Given the description of an element on the screen output the (x, y) to click on. 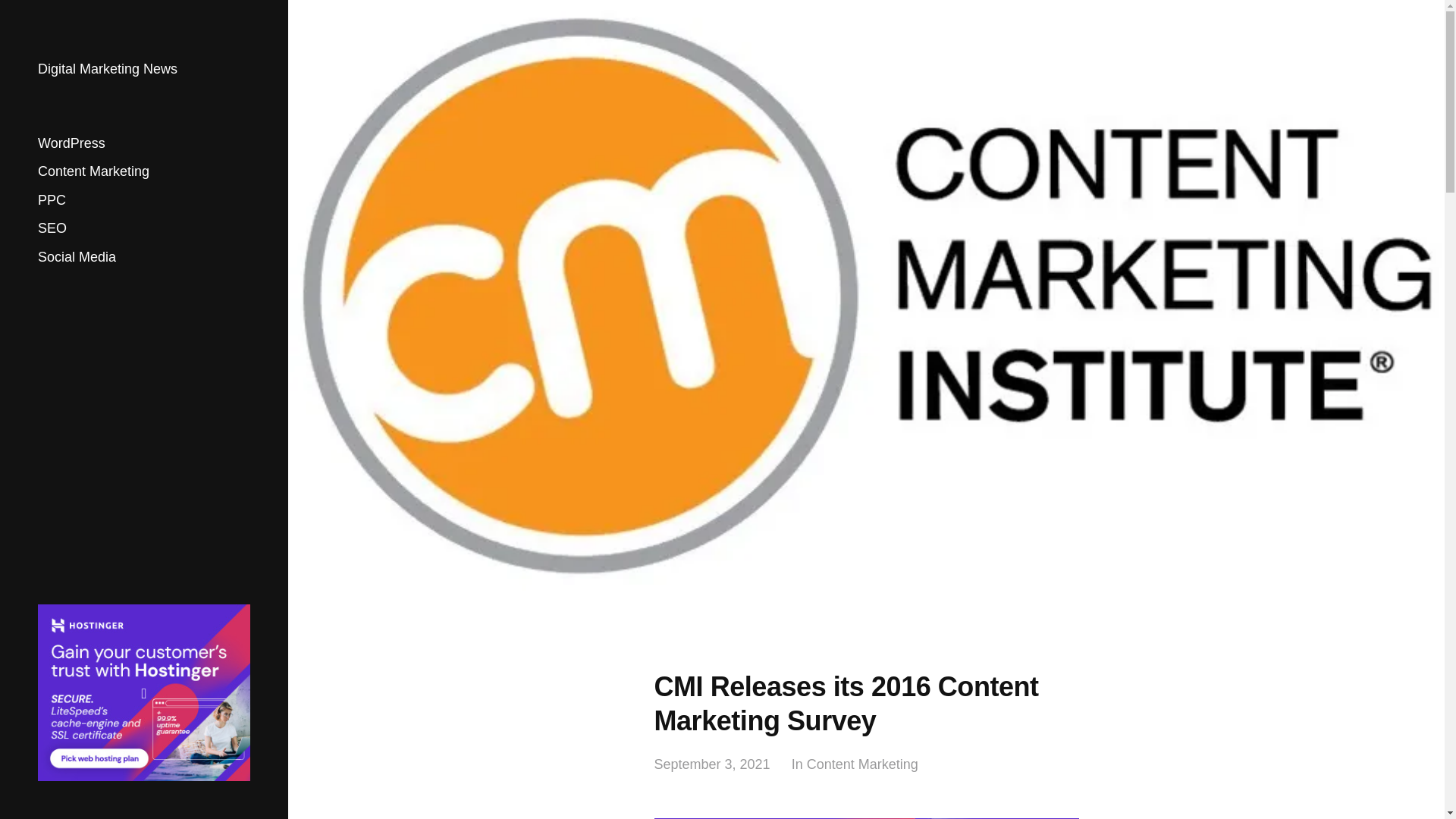
SEO (51, 228)
Digital Marketing News (107, 68)
WordPress (70, 142)
Content Marketing (93, 171)
Content Marketing (862, 764)
PPC (51, 200)
Social Media (76, 256)
September 3, 2021 (711, 764)
